Given the description of an element on the screen output the (x, y) to click on. 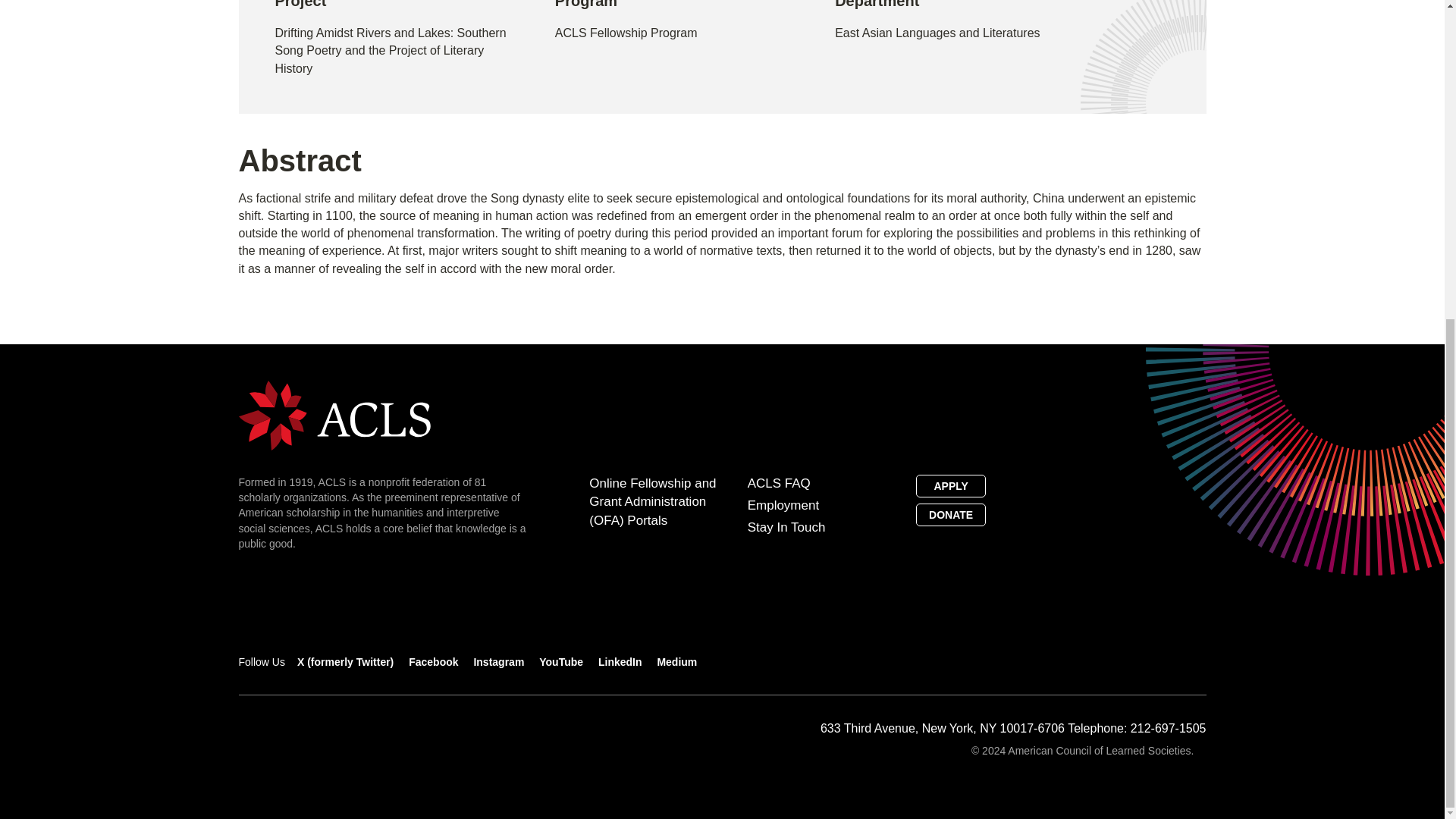
Home (333, 413)
